Given the description of an element on the screen output the (x, y) to click on. 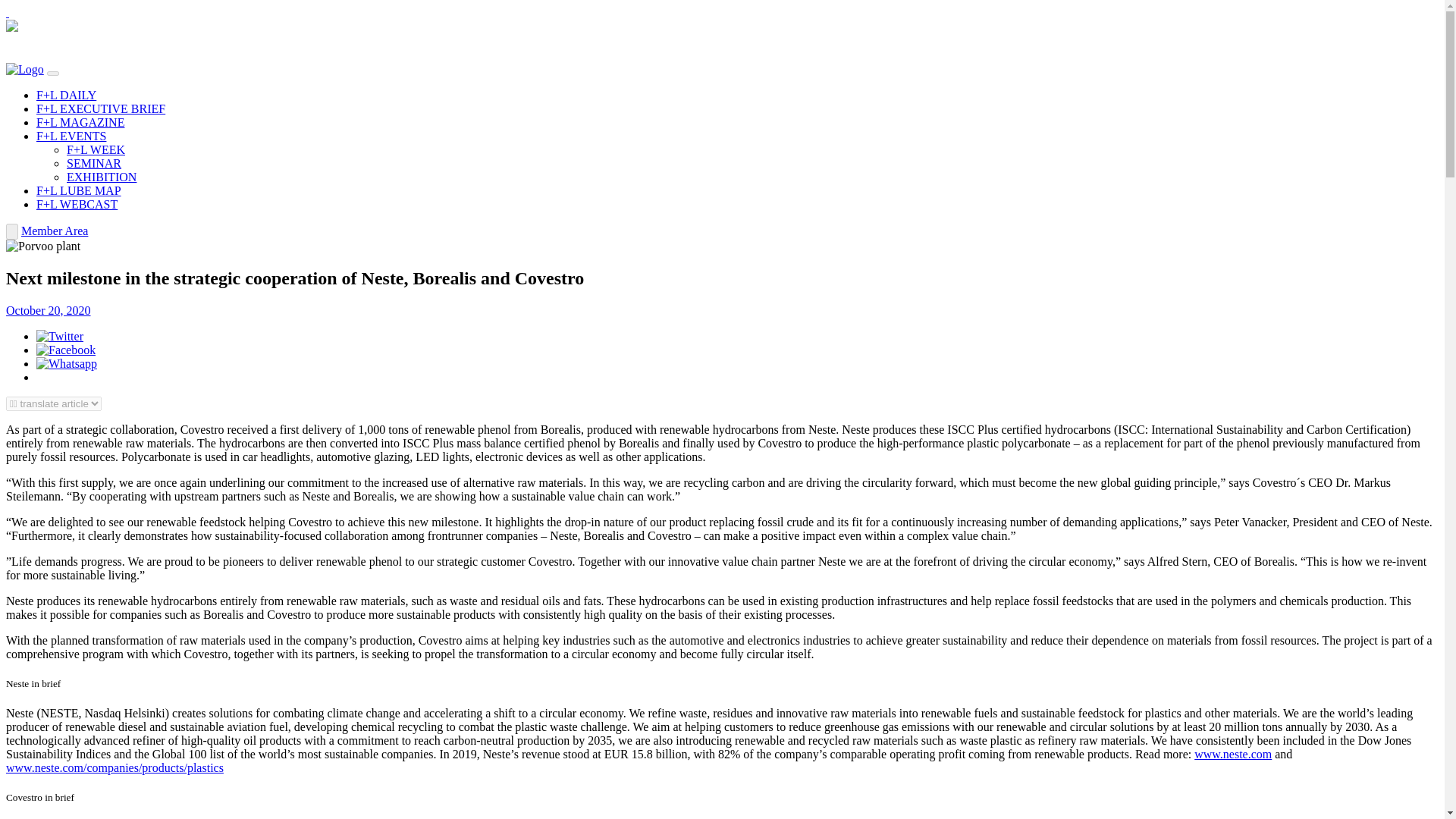
October 20, 2020 (47, 309)
EXHIBITION (101, 176)
www.neste.com (1232, 753)
Member Area (54, 230)
SEMINAR (93, 163)
